Given the description of an element on the screen output the (x, y) to click on. 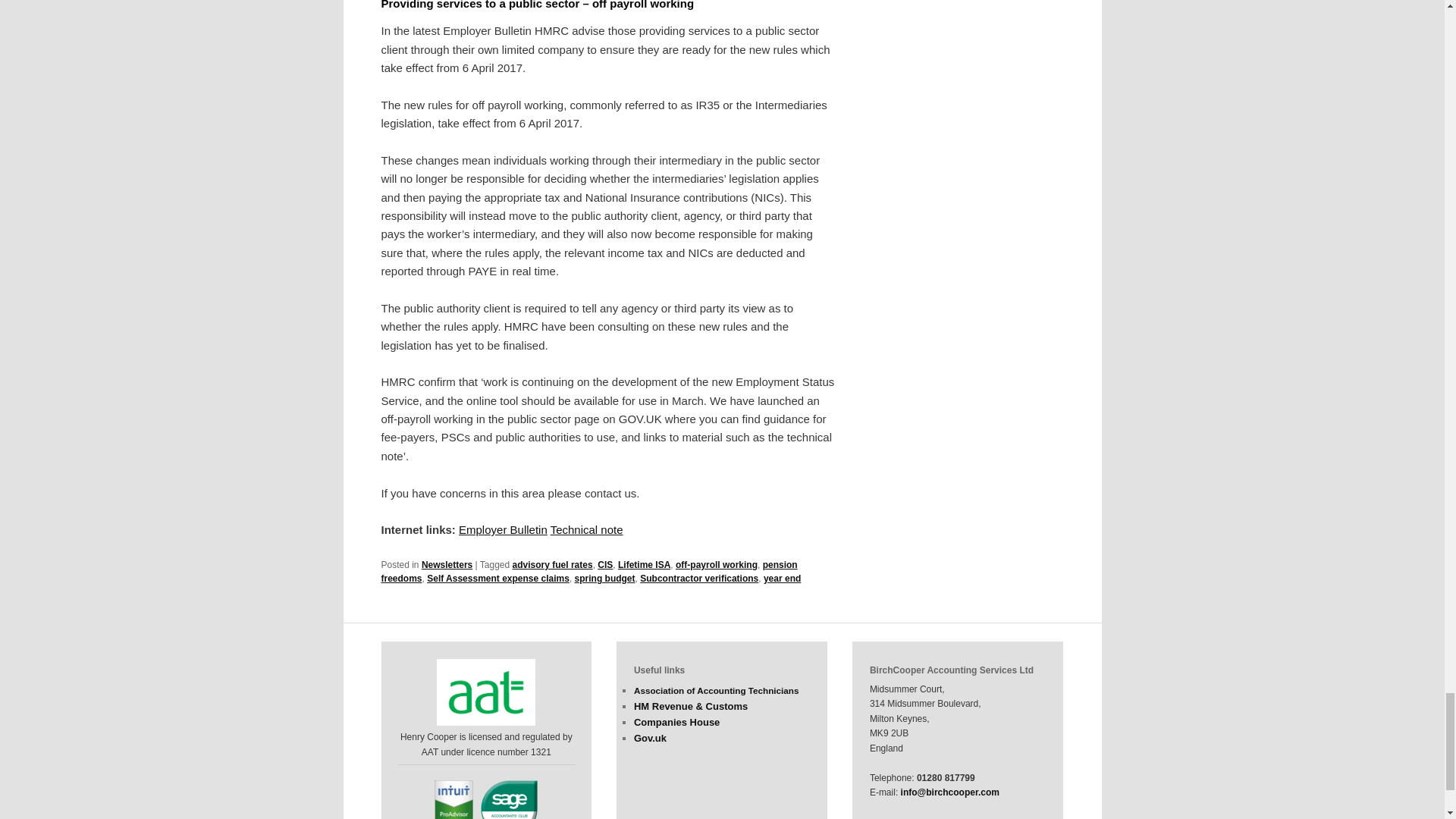
Newsletters (446, 564)
Sage Accountants Club member (508, 799)
advisory fuel rates (552, 564)
CIS (604, 564)
Lifetime ISA (643, 564)
Employer Bulletin (502, 529)
Quickbooks Pro Advisor (453, 799)
off-payroll working (716, 564)
Technical note (586, 529)
Association of Accounting Technicians - member (485, 692)
